Given the description of an element on the screen output the (x, y) to click on. 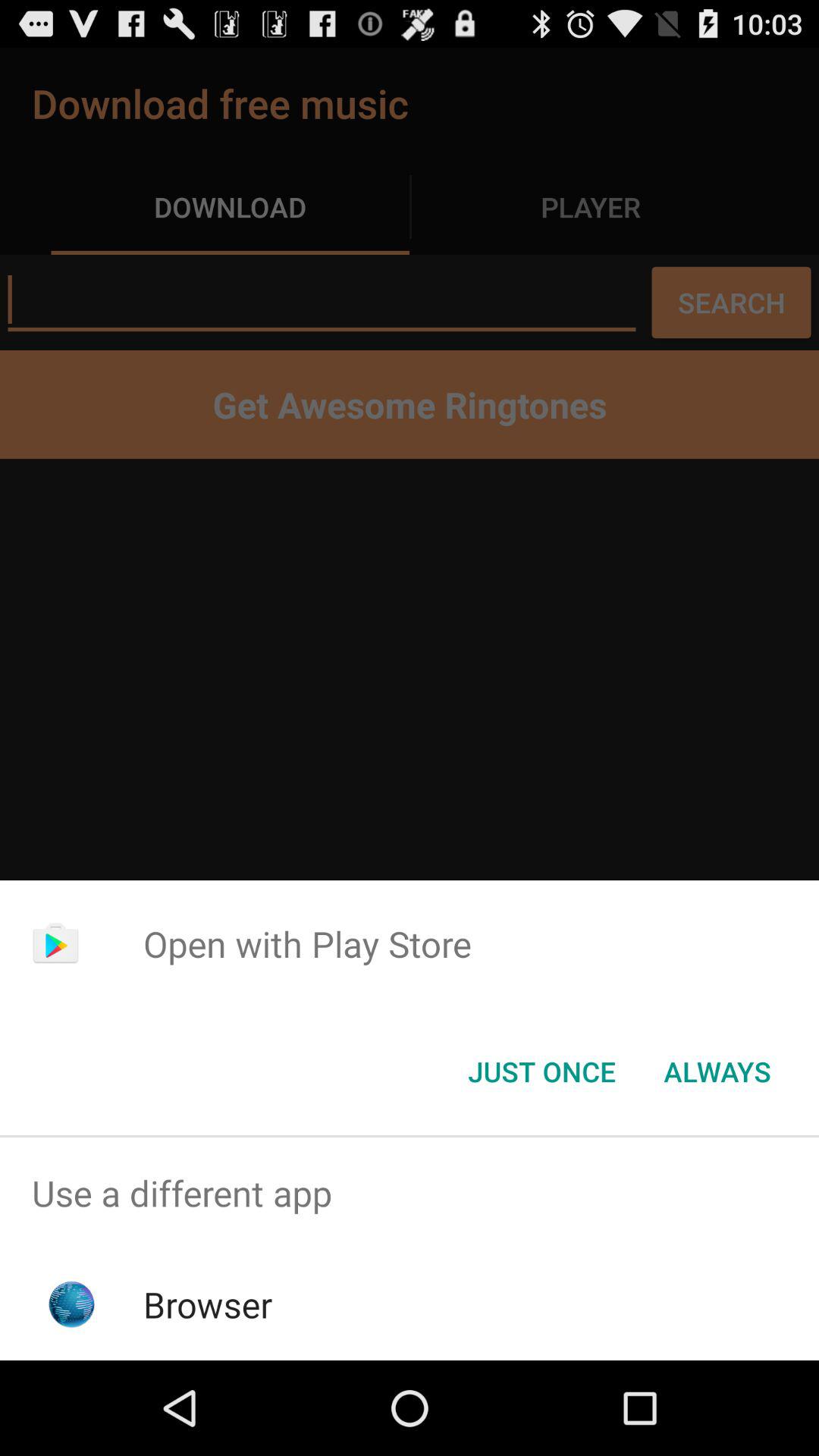
select app above the browser icon (409, 1192)
